Given the description of an element on the screen output the (x, y) to click on. 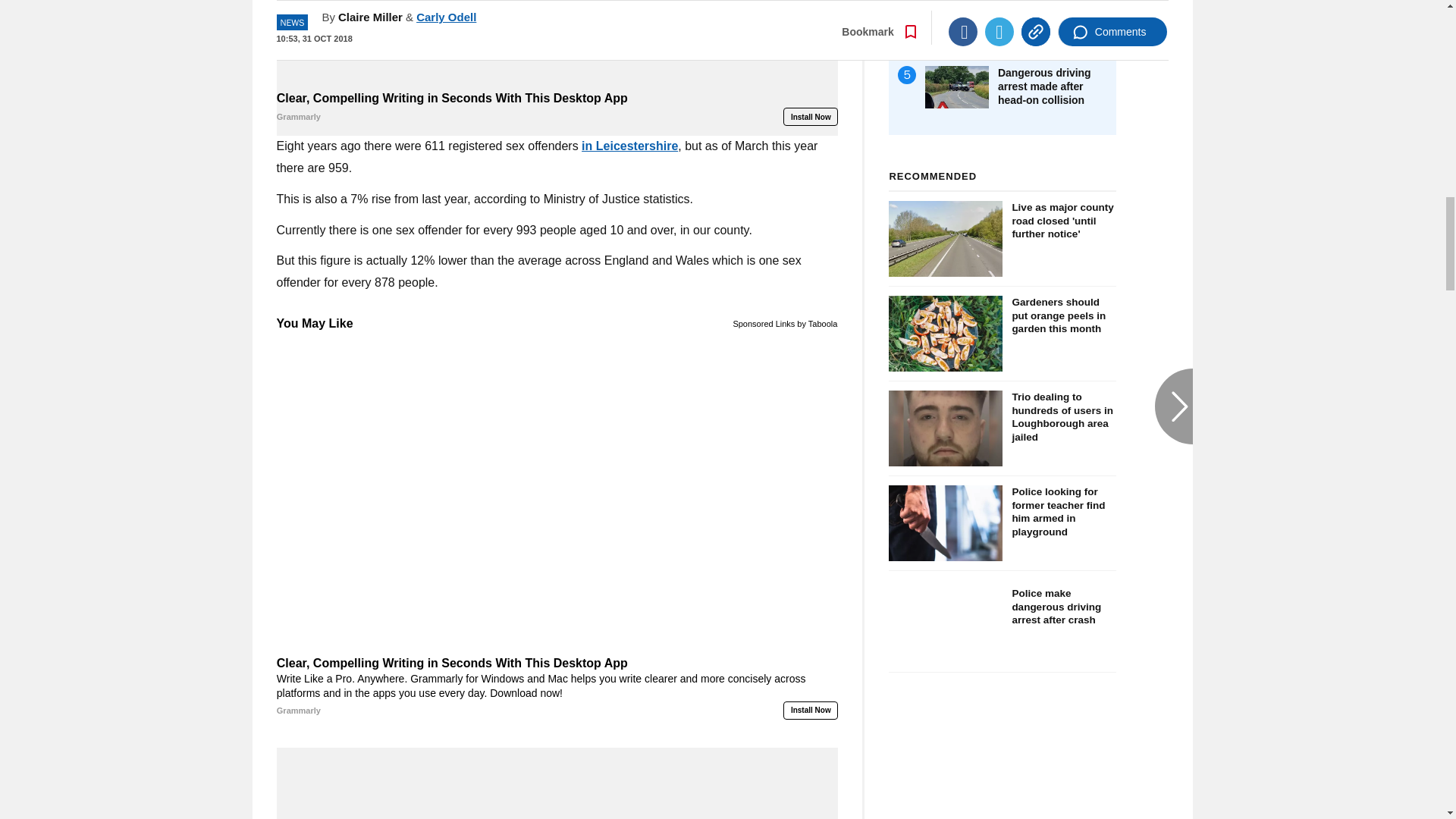
Clear, Compelling Writing in Seconds With This Desktop App (557, 43)
